Given the description of an element on the screen output the (x, y) to click on. 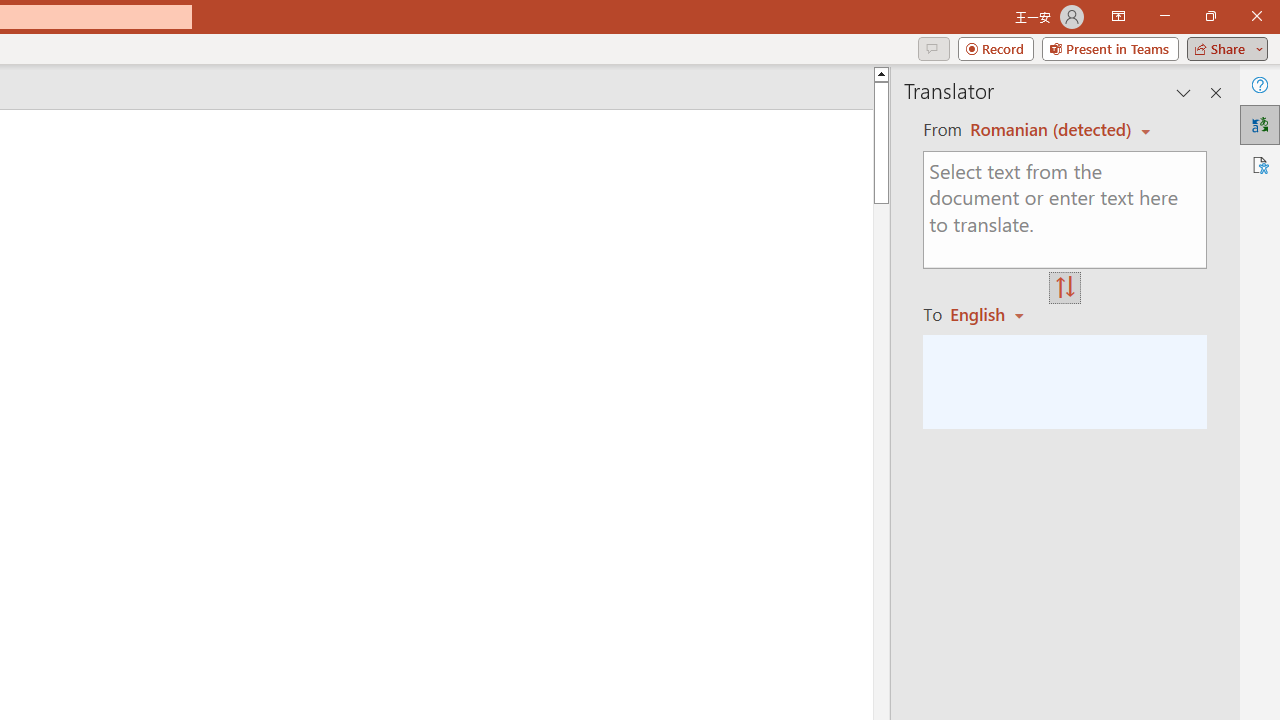
Romanian (994, 313)
